Given the description of an element on the screen output the (x, y) to click on. 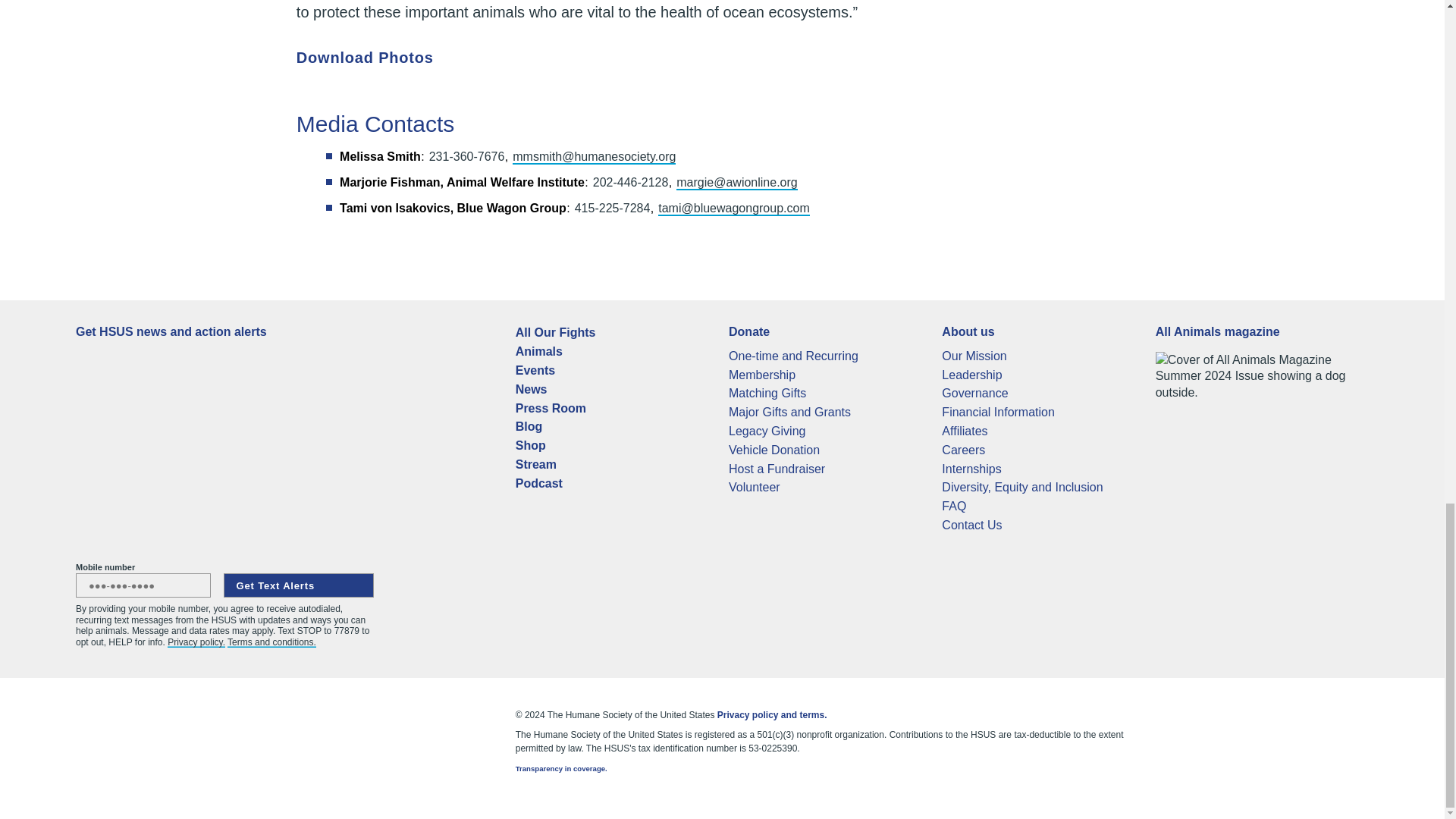
Legacy Giving (767, 431)
Download Photos (373, 57)
Privacy policy. (196, 642)
Matching Gifts (767, 392)
News  (531, 389)
415-225-7284 (612, 207)
News (531, 389)
Get Text Alerts (299, 585)
All Our Fights (555, 332)
Press Room (550, 408)
One-time and Recurring (794, 355)
Matching gift donations (767, 392)
Animals (538, 350)
Blog (529, 426)
Events (534, 369)
